Given the description of an element on the screen output the (x, y) to click on. 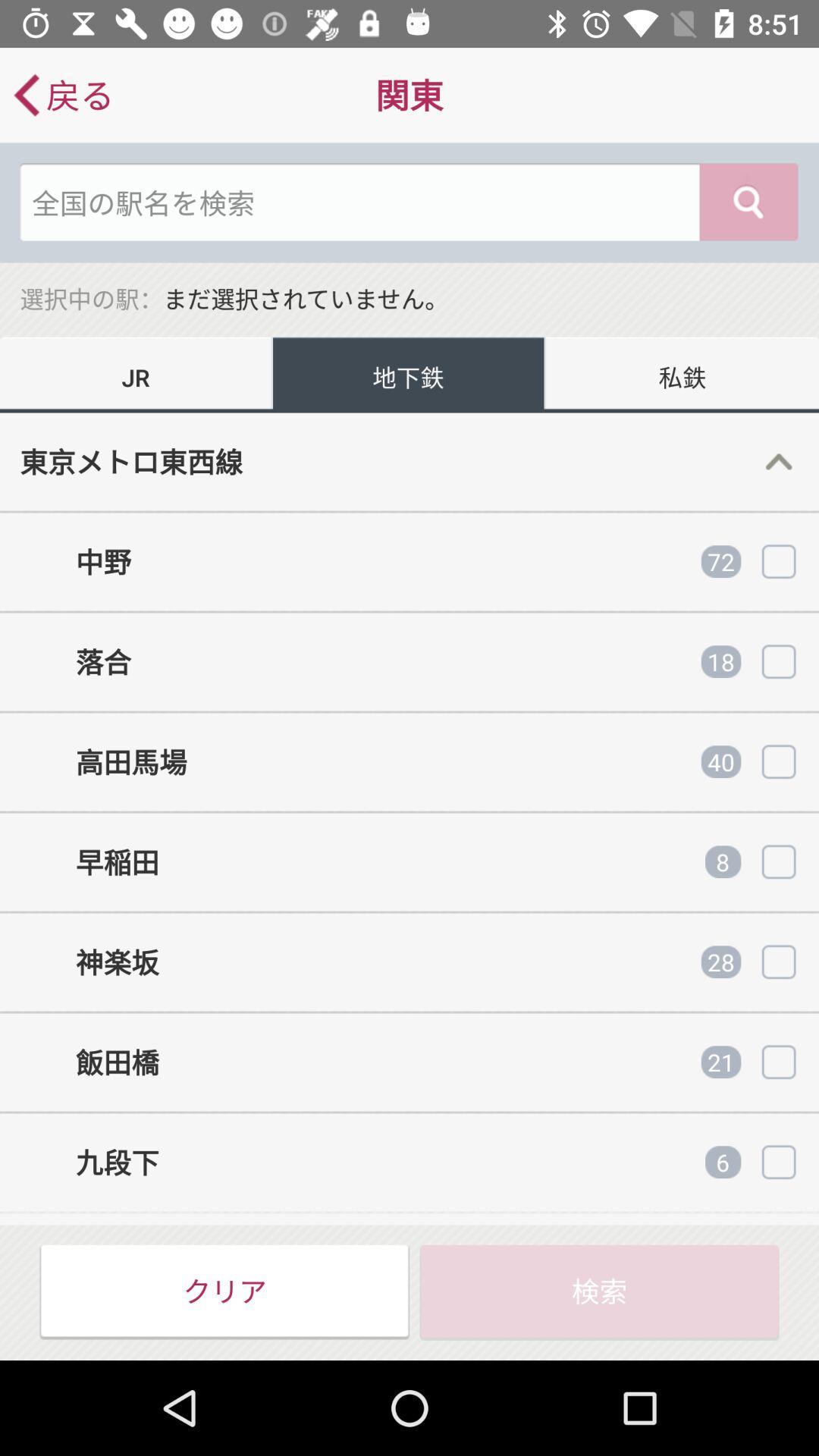
turn off jr icon (136, 374)
